Given the description of an element on the screen output the (x, y) to click on. 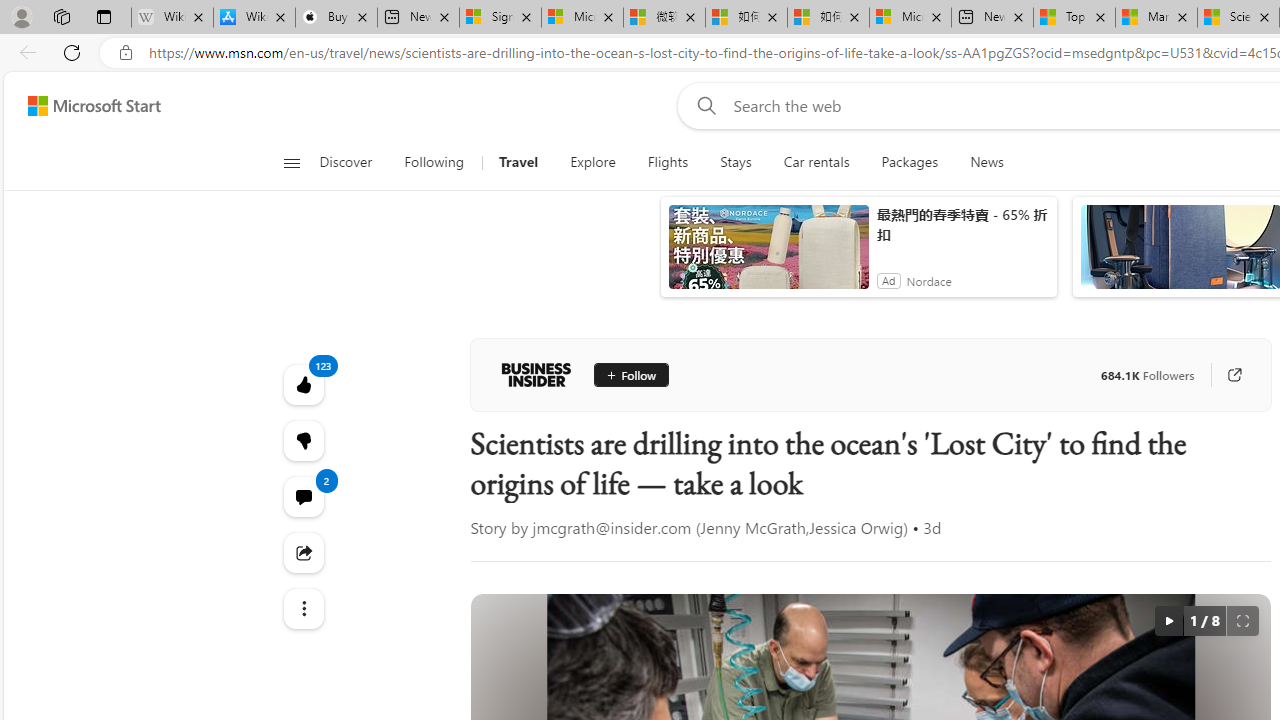
Full screen (1242, 620)
View comments 2 Comment (302, 496)
Business Insider (536, 374)
Packages (909, 162)
Class: button-glyph (290, 162)
123 (302, 440)
Nordace (929, 280)
Follow (630, 374)
Marine life - MSN (1156, 17)
